Given the description of an element on the screen output the (x, y) to click on. 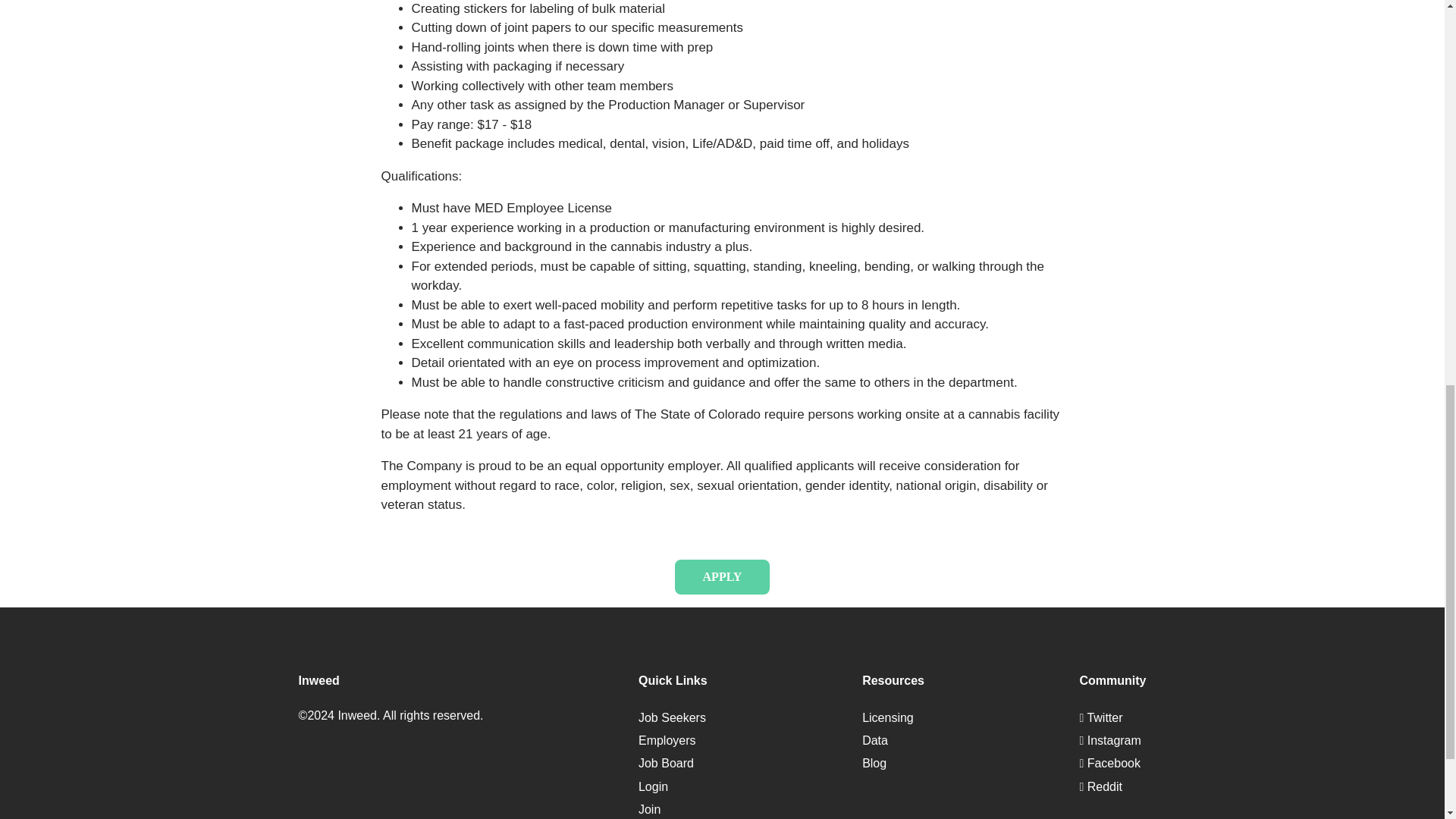
 Facebook (1109, 762)
Employers (667, 739)
Join (650, 809)
Job Board (666, 762)
 Twitter (1100, 717)
 Reddit (1100, 786)
Login (653, 786)
 Instagram (1109, 739)
APPLY (722, 576)
Job Seekers (672, 717)
